Given the description of an element on the screen output the (x, y) to click on. 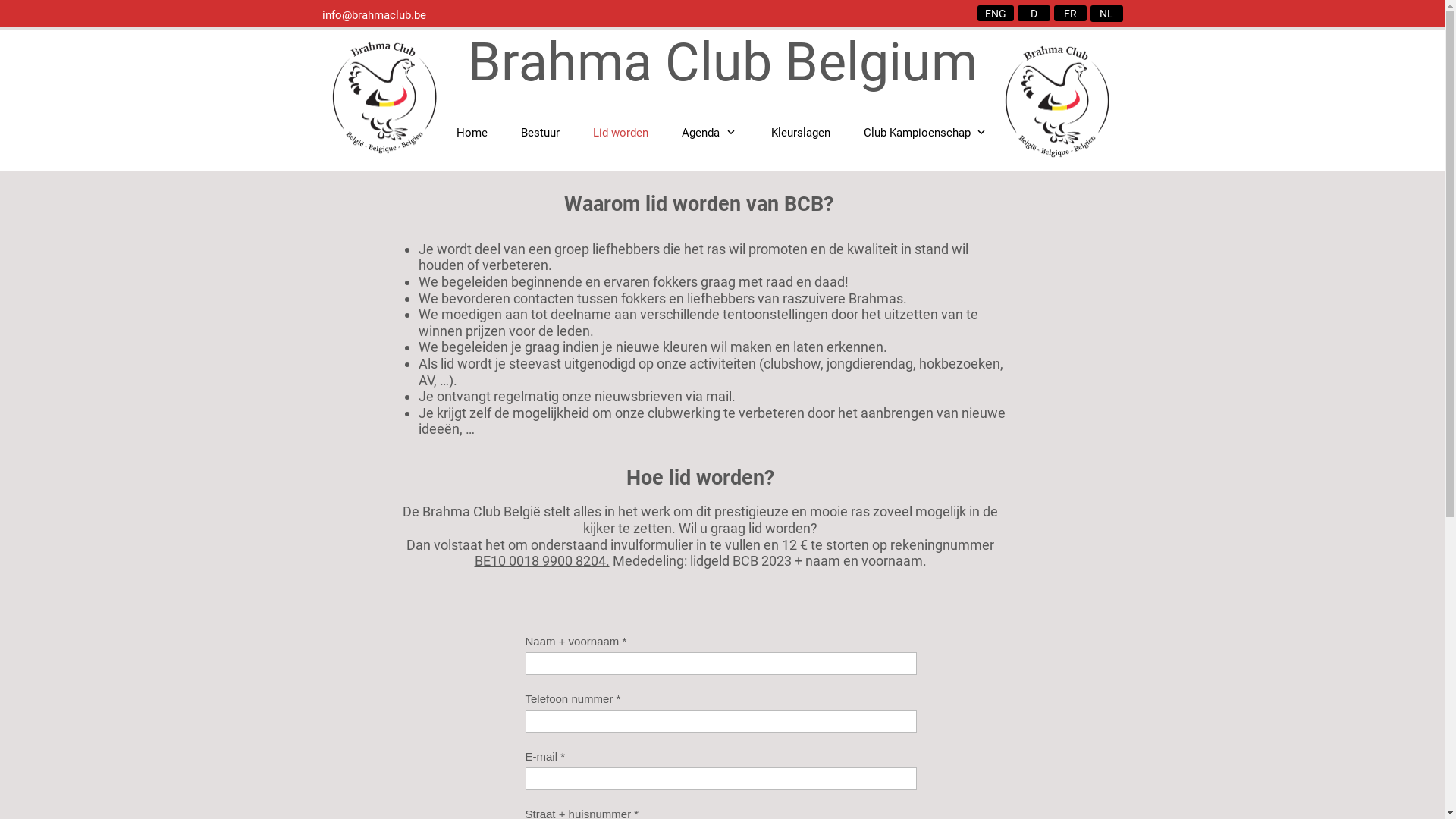
Home Element type: text (471, 131)
Agenda Element type: text (709, 131)
Kleurslagen Element type: text (799, 131)
NL Element type: text (1106, 13)
Bestuur Element type: text (539, 131)
ENG Element type: text (994, 13)
Lid worden Element type: text (620, 131)
info@brahmaclub.be Element type: text (373, 14)
D Element type: text (1033, 13)
FR Element type: text (1070, 13)
Club Kampioenschap Element type: text (924, 131)
